Given the description of an element on the screen output the (x, y) to click on. 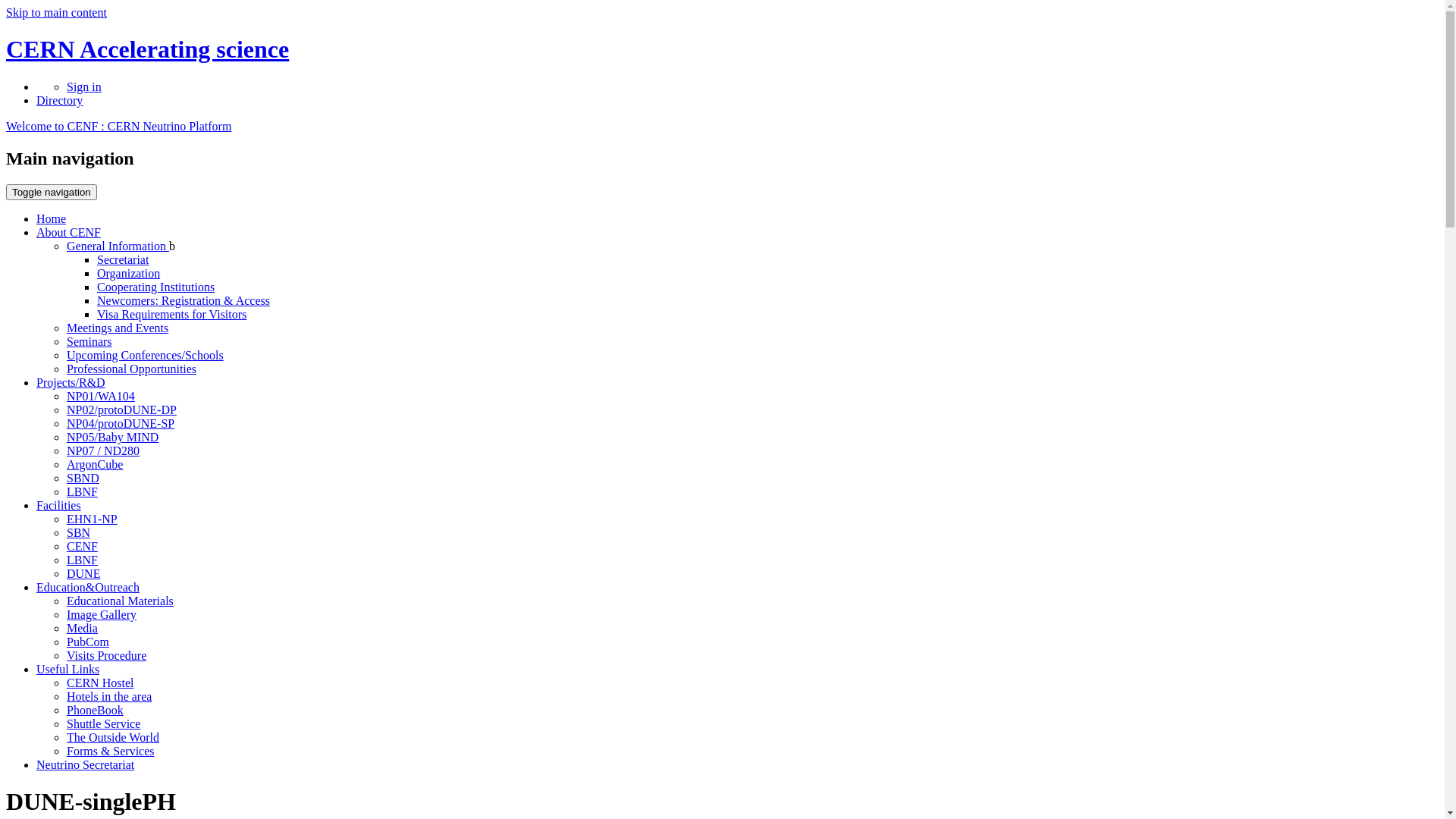
SBN Element type: text (78, 532)
Skip to main content Element type: text (56, 12)
NP05/Baby MIND Element type: text (112, 436)
Meetings and Events Element type: text (117, 327)
Seminars Element type: text (89, 341)
EHN1-NP Element type: text (91, 518)
Shuttle Service Element type: text (103, 723)
Secretariat Element type: text (122, 259)
PubCom Element type: text (87, 641)
Toggle navigation Element type: text (51, 192)
NP04/protoDUNE-SP Element type: text (120, 423)
Media Element type: text (81, 627)
Image Gallery Element type: text (101, 614)
LBNF Element type: text (81, 559)
Professional Opportunities Element type: text (131, 368)
Home Element type: text (50, 218)
Newcomers: Registration & Access Element type: text (183, 300)
LBNF Element type: text (81, 491)
CERN Accelerating science Element type: text (147, 48)
Forms & Services Element type: text (110, 750)
NP01/WA104 Element type: text (100, 395)
Welcome to CENF : CERN Neutrino Platform Element type: text (118, 125)
Organization Element type: text (128, 272)
Facilities Element type: text (58, 504)
PhoneBook Element type: text (94, 709)
Hotels in the area Element type: text (108, 696)
Visa Requirements for Visitors Element type: text (171, 313)
Visits Procedure Element type: text (106, 655)
Sign in Element type: text (83, 86)
Projects/R&D Element type: text (70, 382)
The Outside World Element type: text (112, 737)
CENF Element type: text (81, 545)
Educational Materials Element type: text (119, 600)
About CENF Element type: text (68, 231)
Useful Links Element type: text (67, 668)
DUNE Element type: text (83, 573)
CERN Hostel Element type: text (99, 682)
Education&Outreach Element type: text (87, 586)
NP02/protoDUNE-DP Element type: text (121, 409)
General Information Element type: text (117, 245)
Upcoming Conferences/Schools Element type: text (144, 354)
ArgonCube Element type: text (94, 464)
Cooperating Institutions Element type: text (155, 286)
SBND Element type: text (82, 477)
Directory Element type: text (59, 100)
Neutrino Secretariat Element type: text (85, 764)
NP07 / ND280 Element type: text (102, 450)
